Given the description of an element on the screen output the (x, y) to click on. 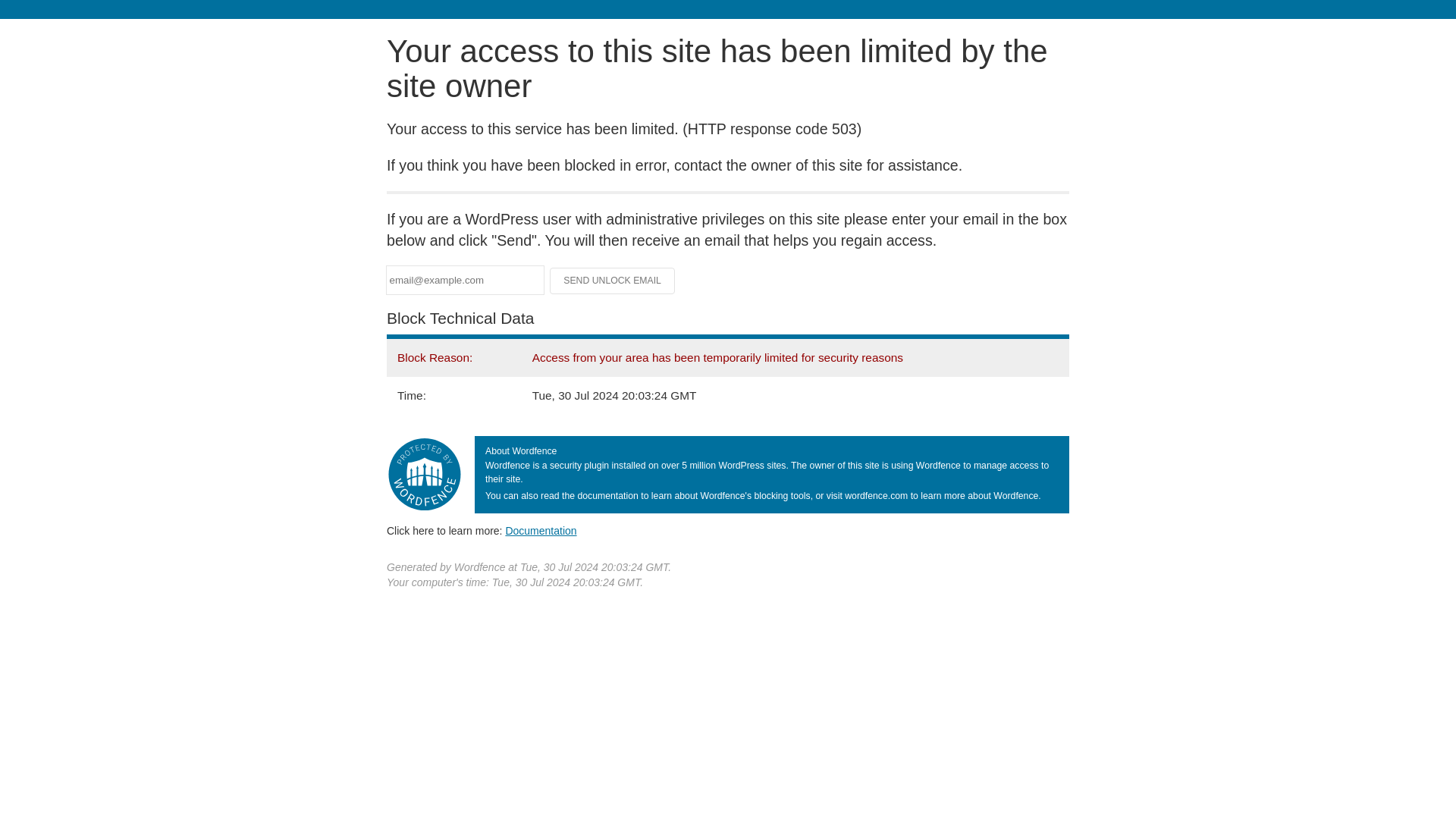
Send Unlock Email (612, 280)
Send Unlock Email (612, 280)
